Given the description of an element on the screen output the (x, y) to click on. 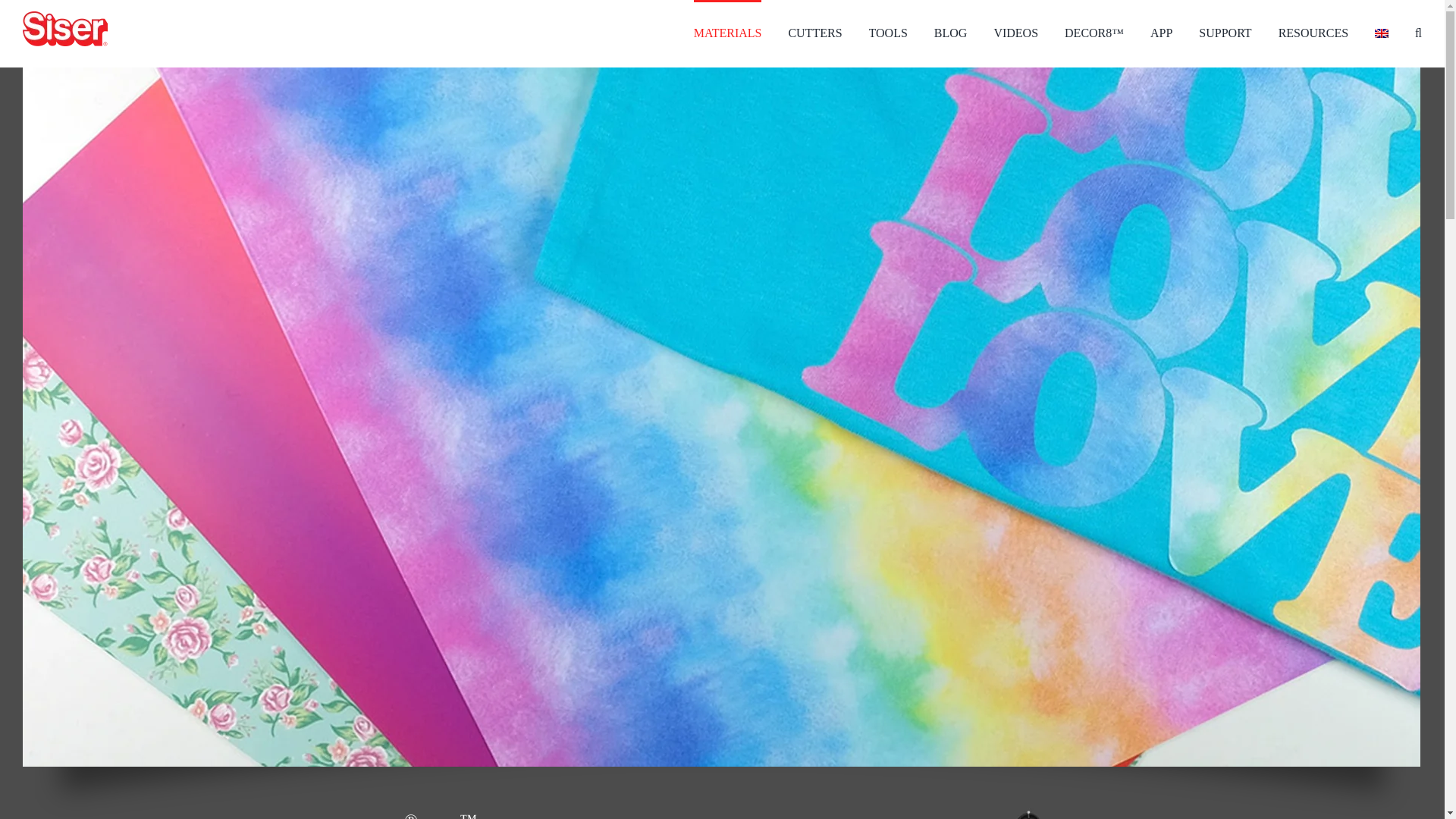
English (1381, 32)
MATERIALS (727, 31)
